Given the description of an element on the screen output the (x, y) to click on. 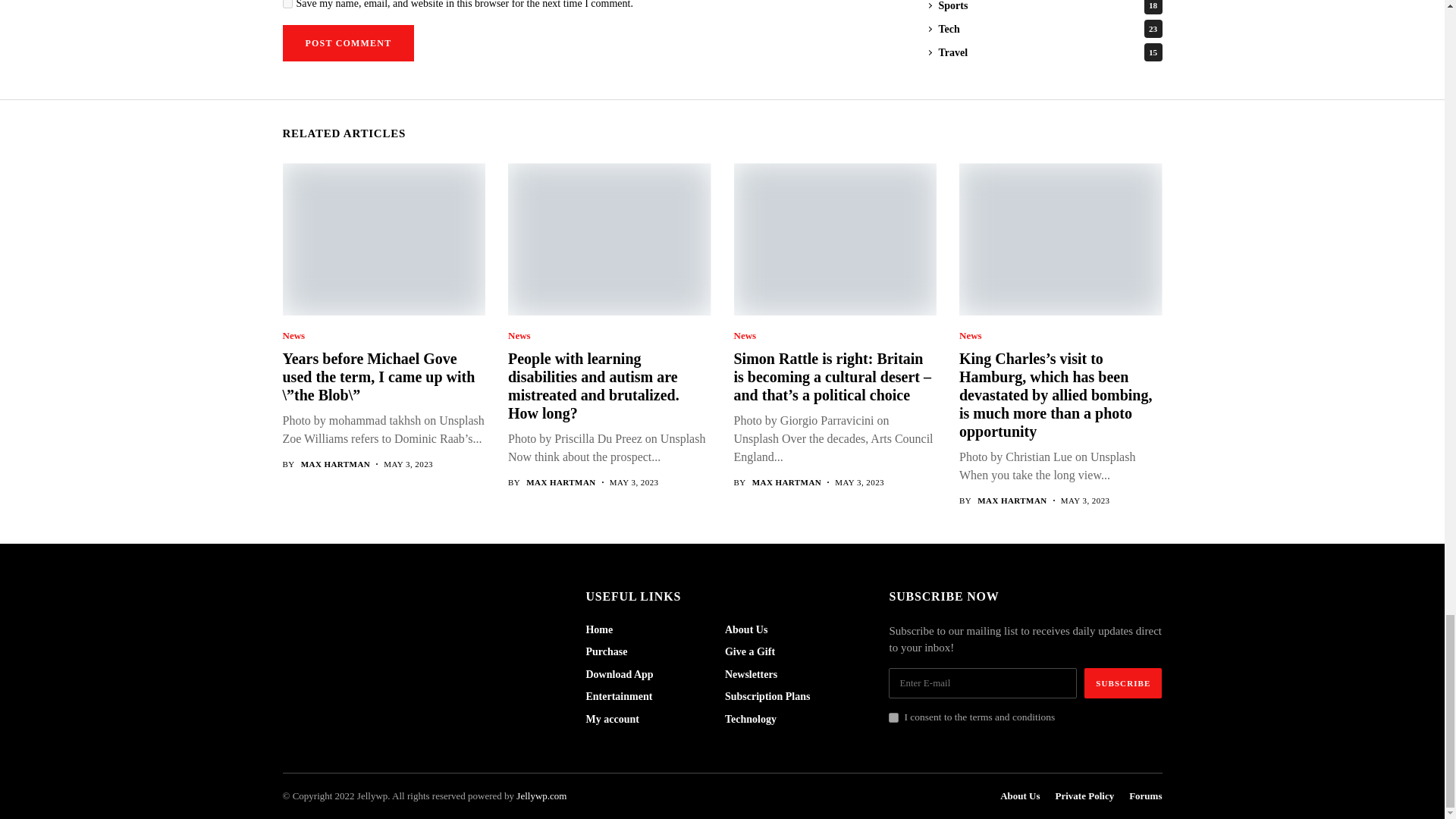
Subscribe (1122, 683)
Posts by Max Hartman (336, 464)
yes (287, 4)
Posts by Max Hartman (1011, 501)
1 (893, 717)
Posts by Max Hartman (560, 482)
Posts by Max Hartman (787, 482)
